Given the description of an element on the screen output the (x, y) to click on. 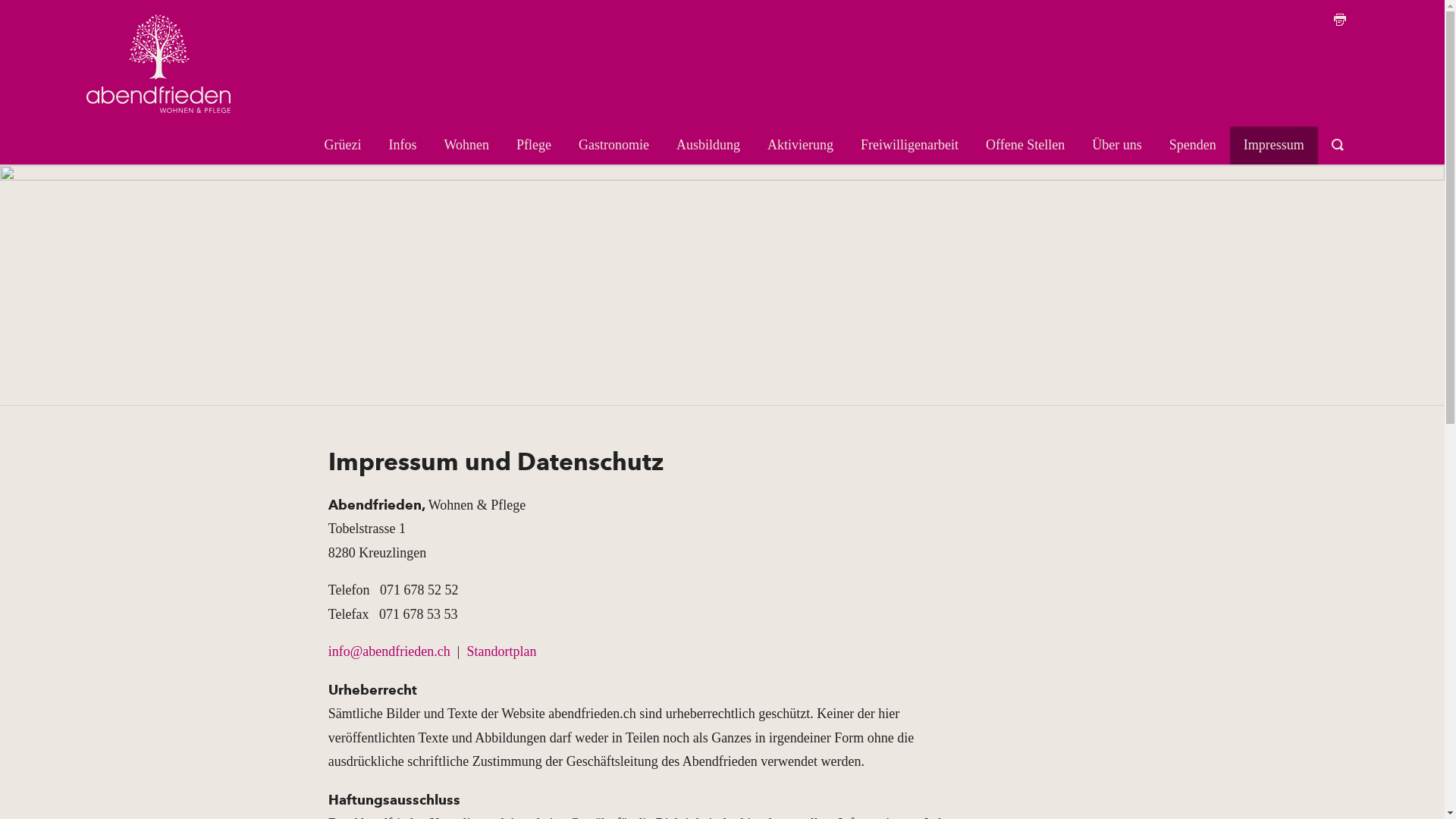
Pflege Element type: text (533, 145)
Gastronomie Element type: text (613, 145)
Standortplan Element type: text (501, 650)
info@abendfrieden.ch Element type: text (389, 650)
Infos Element type: text (402, 145)
Ausbildung Element type: text (707, 145)
Offene Stellen Element type: text (1025, 145)
Wohnen Element type: text (466, 145)
Aktivierung Element type: text (800, 145)
Freiwilligenarbeit Element type: text (909, 145)
Spenden Element type: text (1192, 145)
Impressum Element type: text (1273, 145)
